Given the description of an element on the screen output the (x, y) to click on. 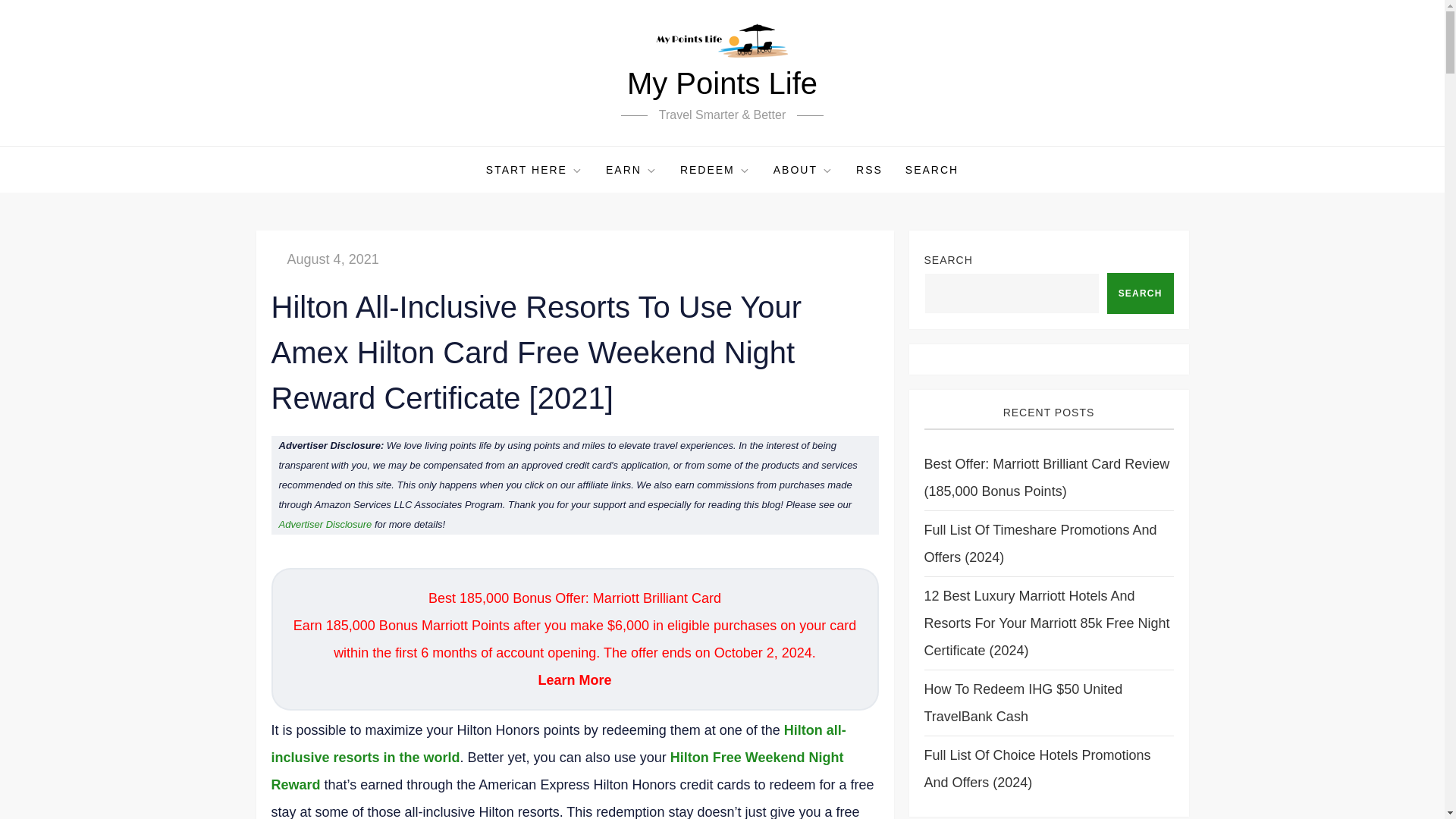
START HERE (534, 169)
EARN (631, 169)
My Points Life (721, 82)
REDEEM (714, 169)
